Given the description of an element on the screen output the (x, y) to click on. 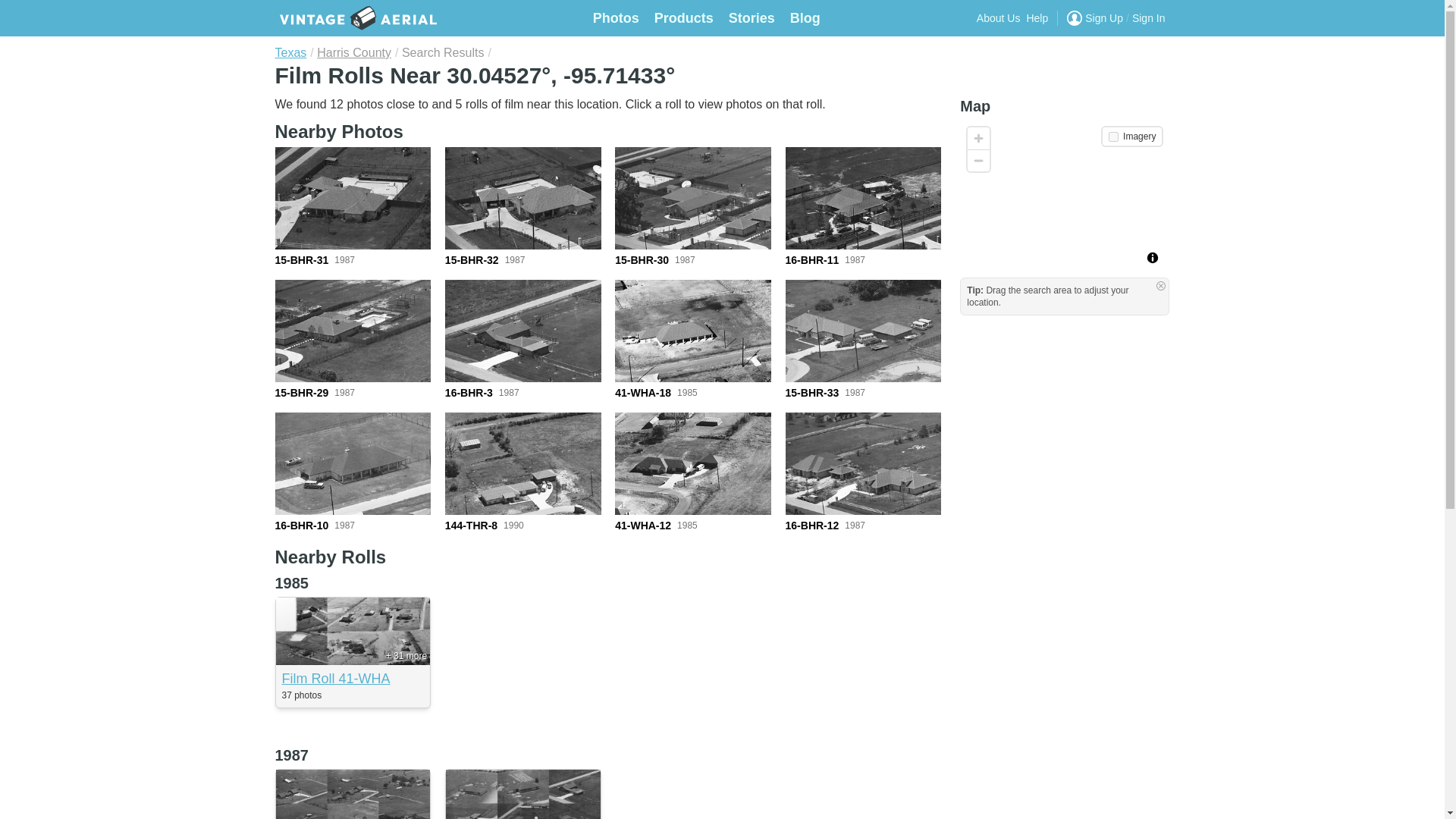
Sign In (1149, 17)
Sign In (1149, 17)
Sign Up (1103, 17)
About Us (998, 18)
Blog (805, 17)
Harris County (354, 51)
Toggle attribution (1151, 257)
Stories (751, 17)
Products (683, 17)
on (1113, 136)
Help (1037, 18)
Texas (290, 51)
Zoom in (979, 138)
Photos (615, 17)
Zoom out (979, 160)
